Given the description of an element on the screen output the (x, y) to click on. 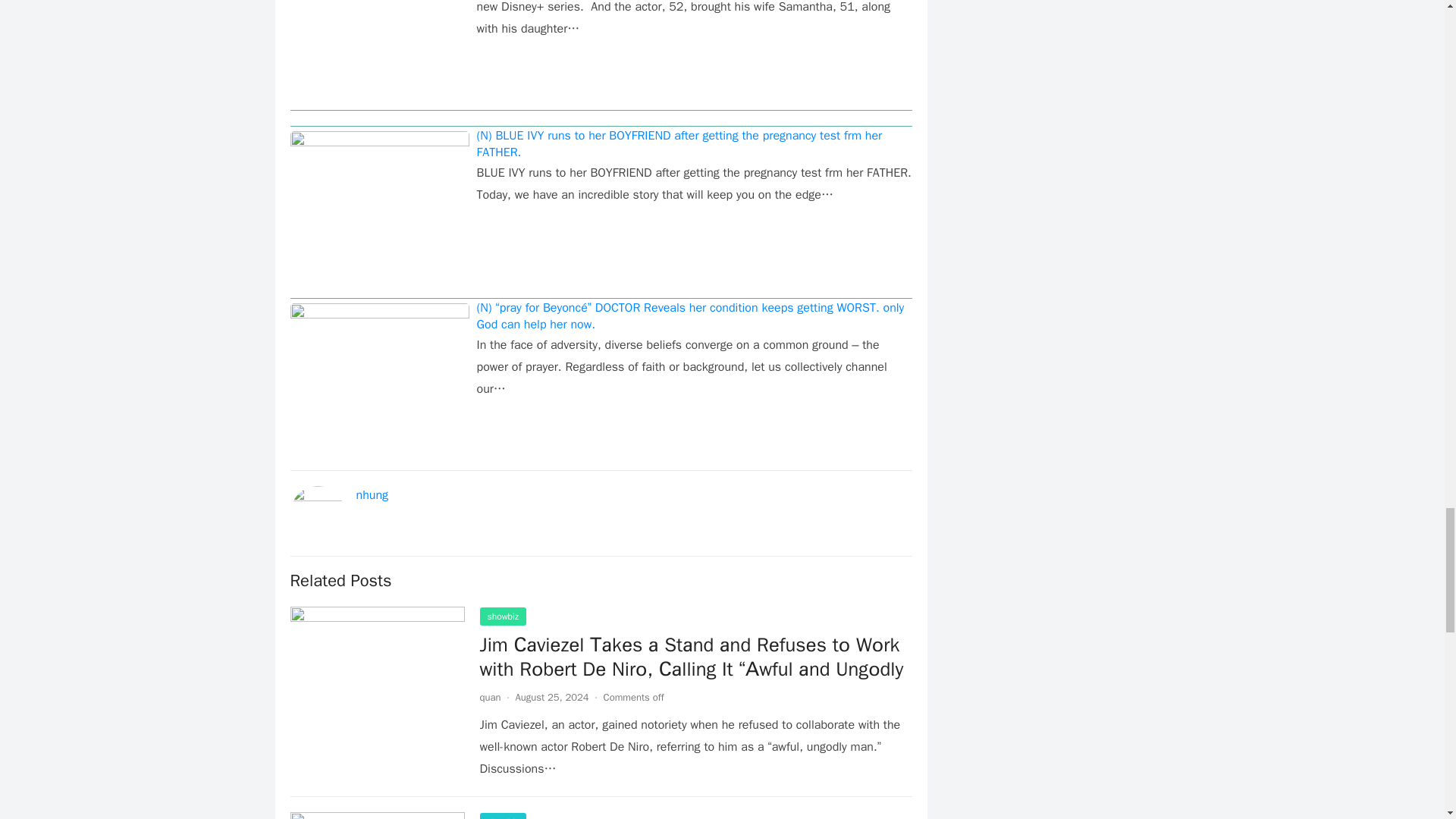
nhung (372, 494)
Posts by quan (489, 697)
quan (489, 697)
showbiz (502, 616)
showbiz (502, 816)
